Given the description of an element on the screen output the (x, y) to click on. 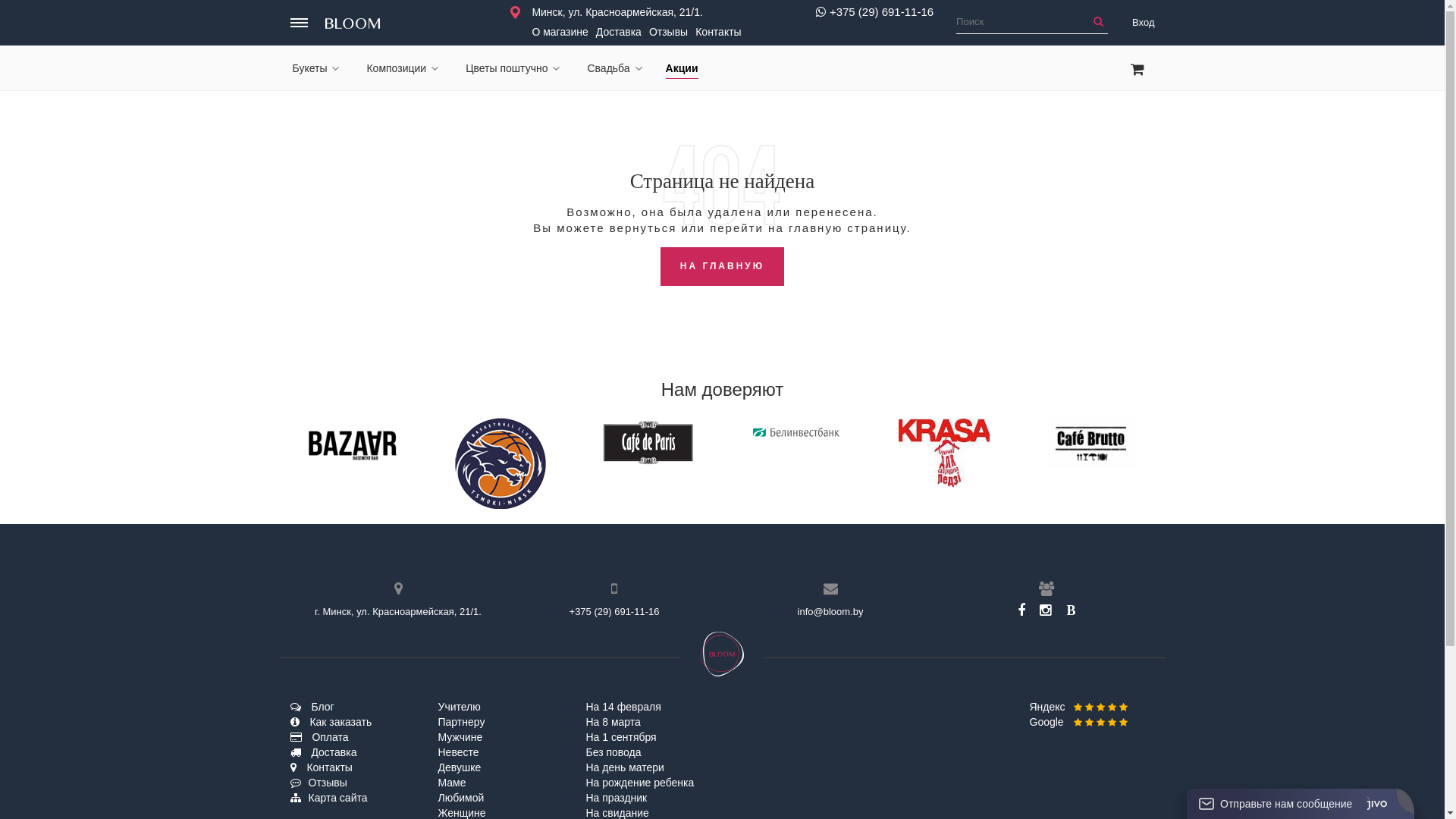
+375 (29) 691-11-16 Element type: text (874, 11)
  Element type: text (352, 23)
+375 (29) 691-11-16 Element type: text (614, 611)
  Element type: text (298, 22)
Google Element type: text (1078, 721)
info@bloom.by Element type: text (830, 611)
